Given the description of an element on the screen output the (x, y) to click on. 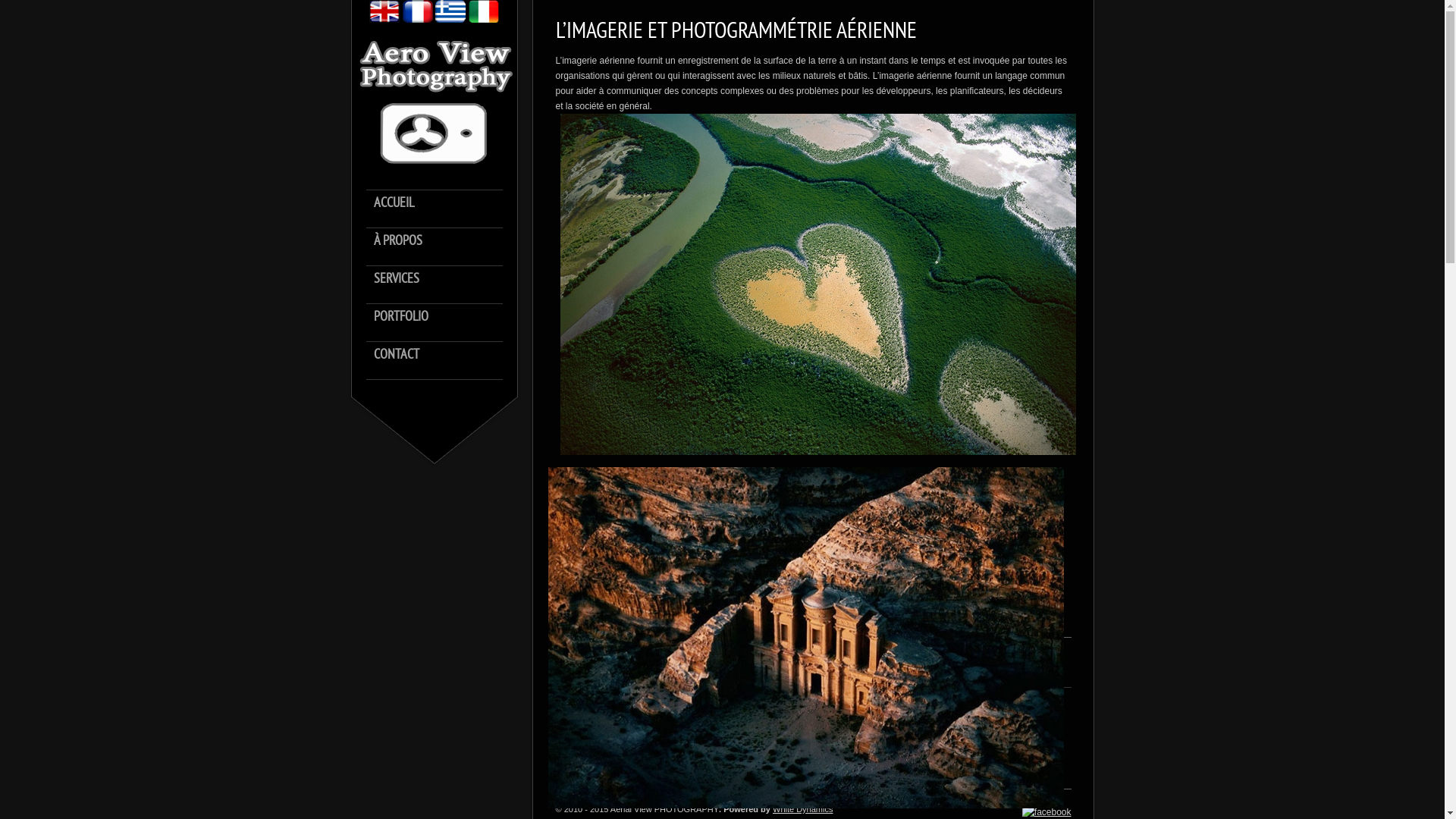
CONTACT Element type: text (441, 361)
White Dynamics Element type: text (812, 722)
A propos Element type: text (630, 699)
ACCUEIL Element type: text (441, 209)
White Dynamics Portfolio Element type: text (812, 746)
SERVICES Element type: text (441, 285)
06 Element type: hover (805, 637)
Contact Element type: text (812, 699)
Services Element type: text (630, 722)
White Dynamics Element type: text (802, 808)
Portfolio Element type: text (630, 746)
PORTFOLIO Element type: text (441, 323)
05 Element type: hover (818, 284)
